Given the description of an element on the screen output the (x, y) to click on. 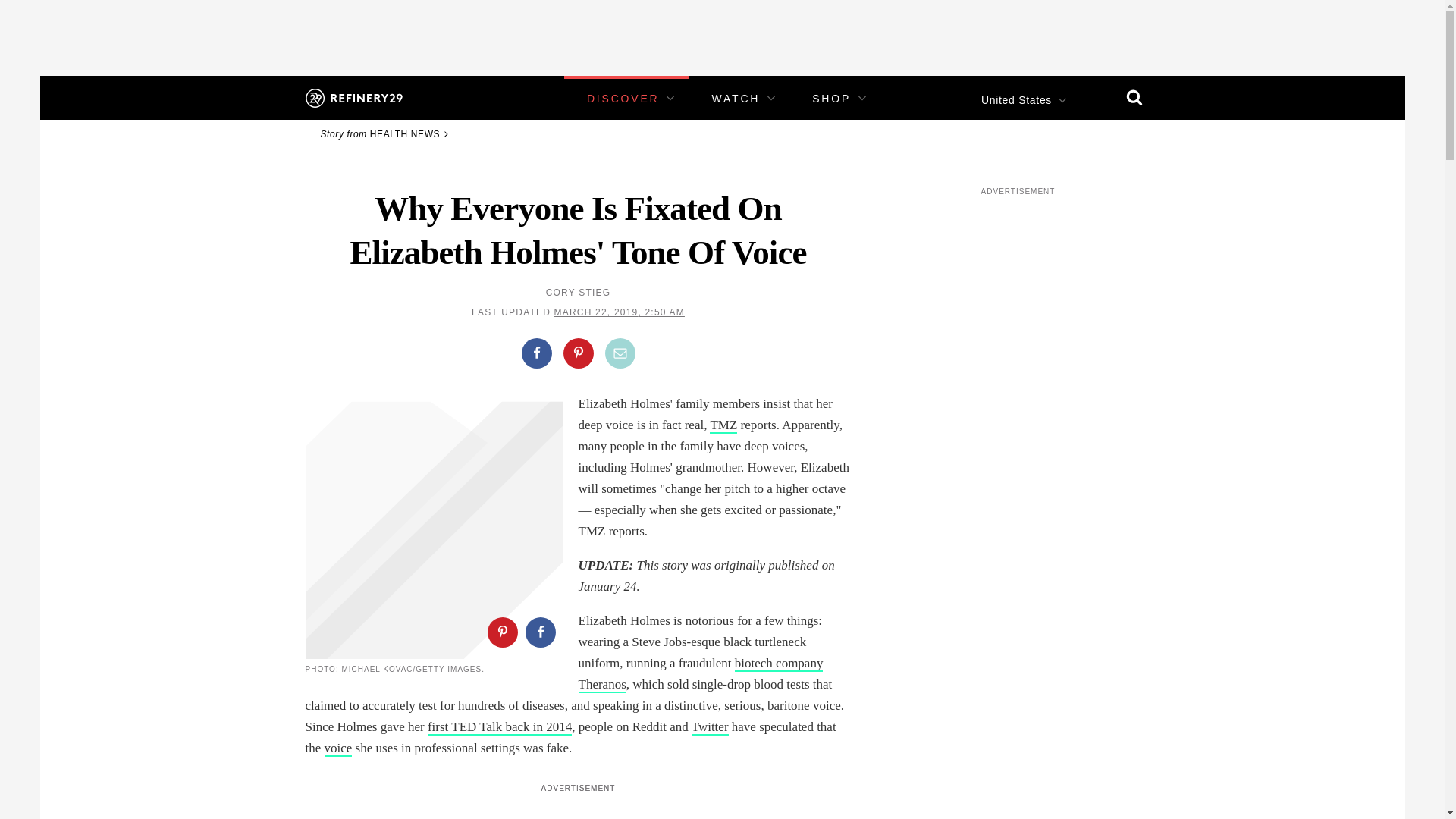
Twitter (710, 727)
voice (338, 748)
biotech company Theranos (700, 674)
Share on Facebook (536, 353)
WATCH (735, 98)
Story from HEALTH NEWS (386, 133)
Share on Pinterest (501, 632)
SHOP (831, 98)
Share by Email (619, 353)
Share on Pinterest (577, 353)
